Given the description of an element on the screen output the (x, y) to click on. 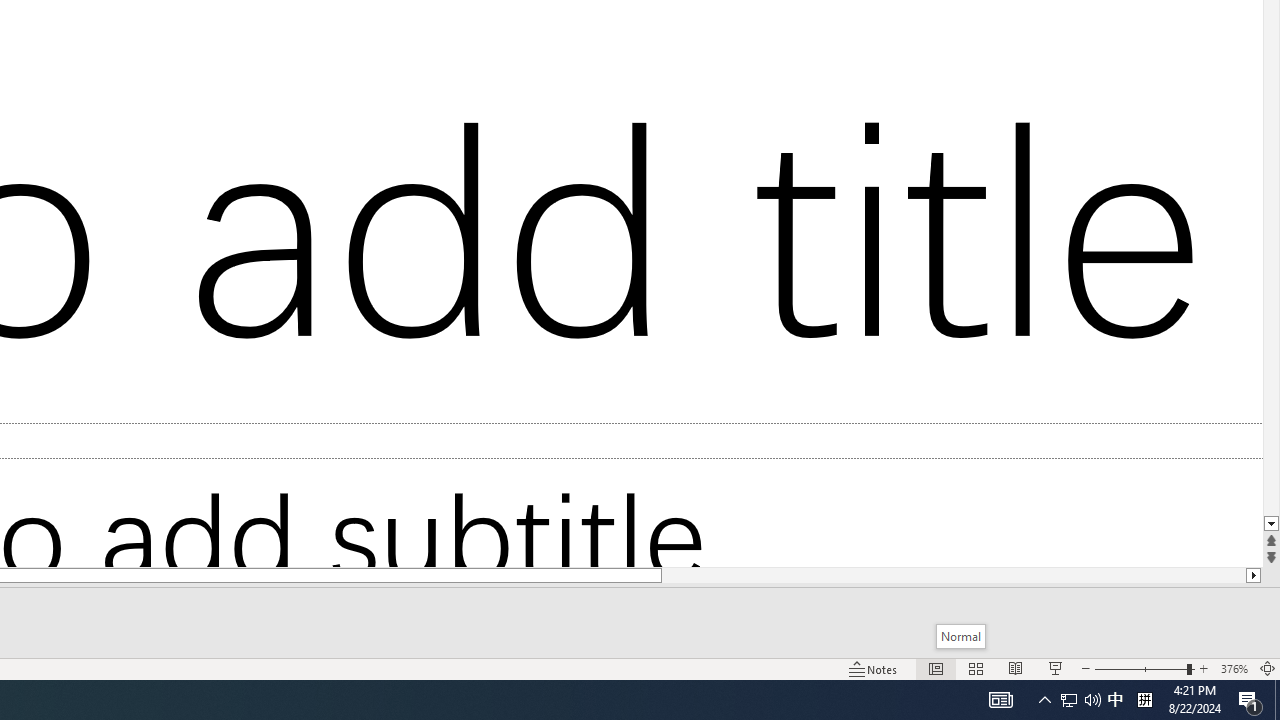
Zoom 376% (1234, 668)
